Given the description of an element on the screen output the (x, y) to click on. 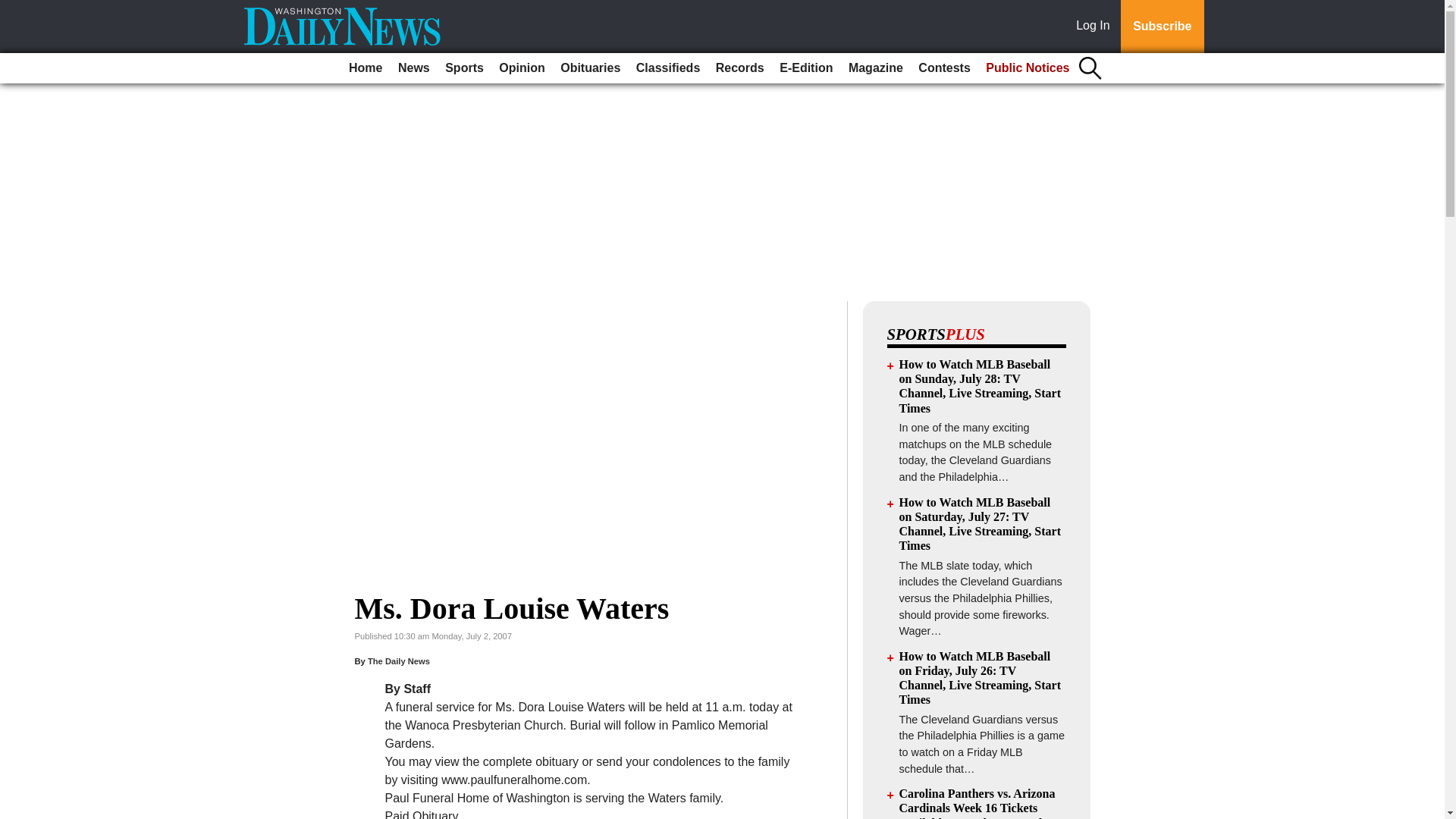
Log In (1095, 26)
Subscribe (1162, 26)
Go (13, 9)
E-Edition (805, 68)
Sports (464, 68)
Records (740, 68)
Home (365, 68)
Obituaries (590, 68)
News (413, 68)
Public Notices (1027, 68)
The Daily News (398, 660)
Contests (943, 68)
Magazine (875, 68)
